Given the description of an element on the screen output the (x, y) to click on. 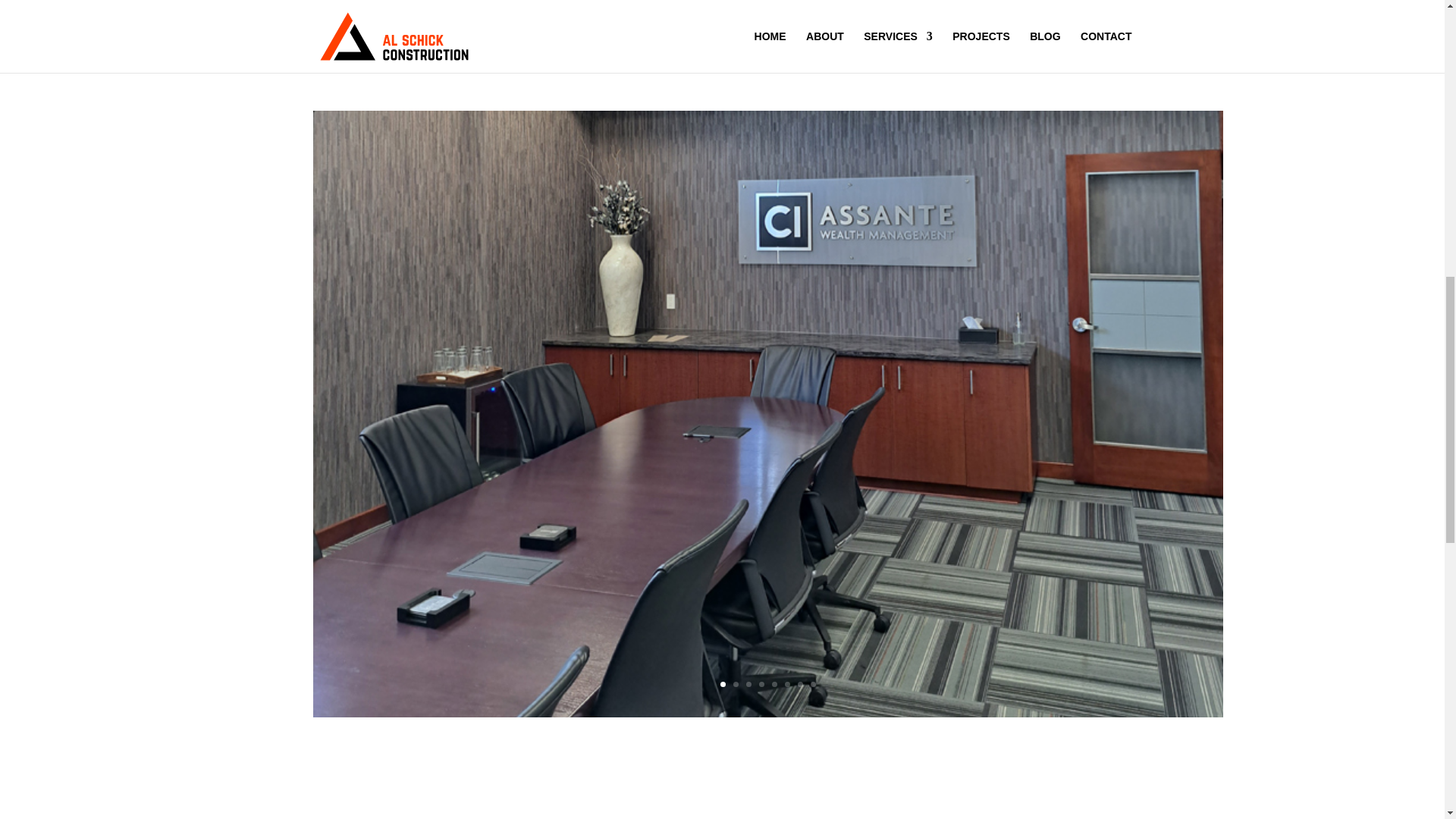
5 (774, 684)
2 (735, 684)
8 (812, 684)
7 (800, 684)
board-room (768, 792)
3 (748, 684)
